Given the description of an element on the screen output the (x, y) to click on. 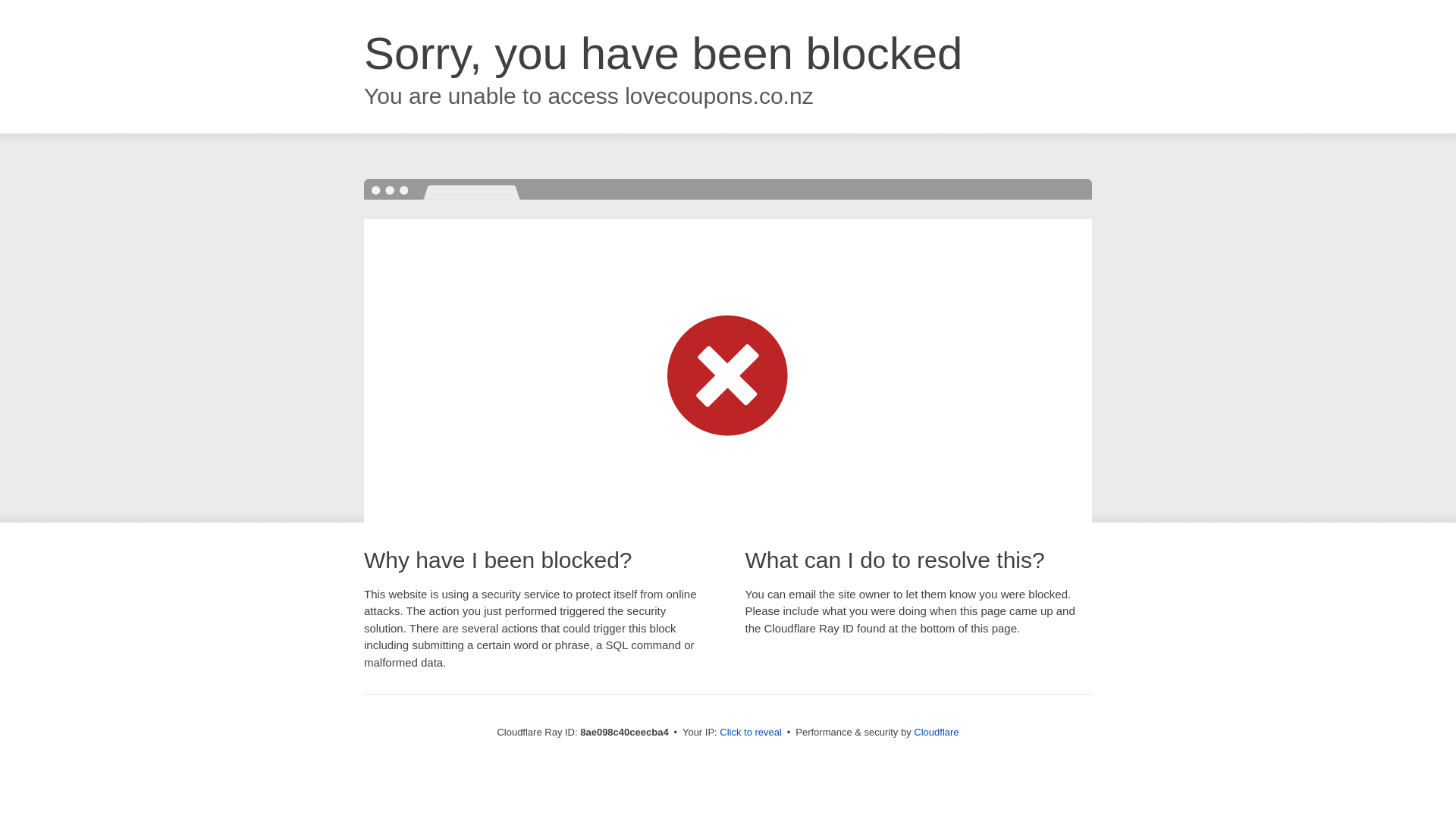
Click to reveal (750, 732)
Cloudflare (936, 731)
